Given the description of an element on the screen output the (x, y) to click on. 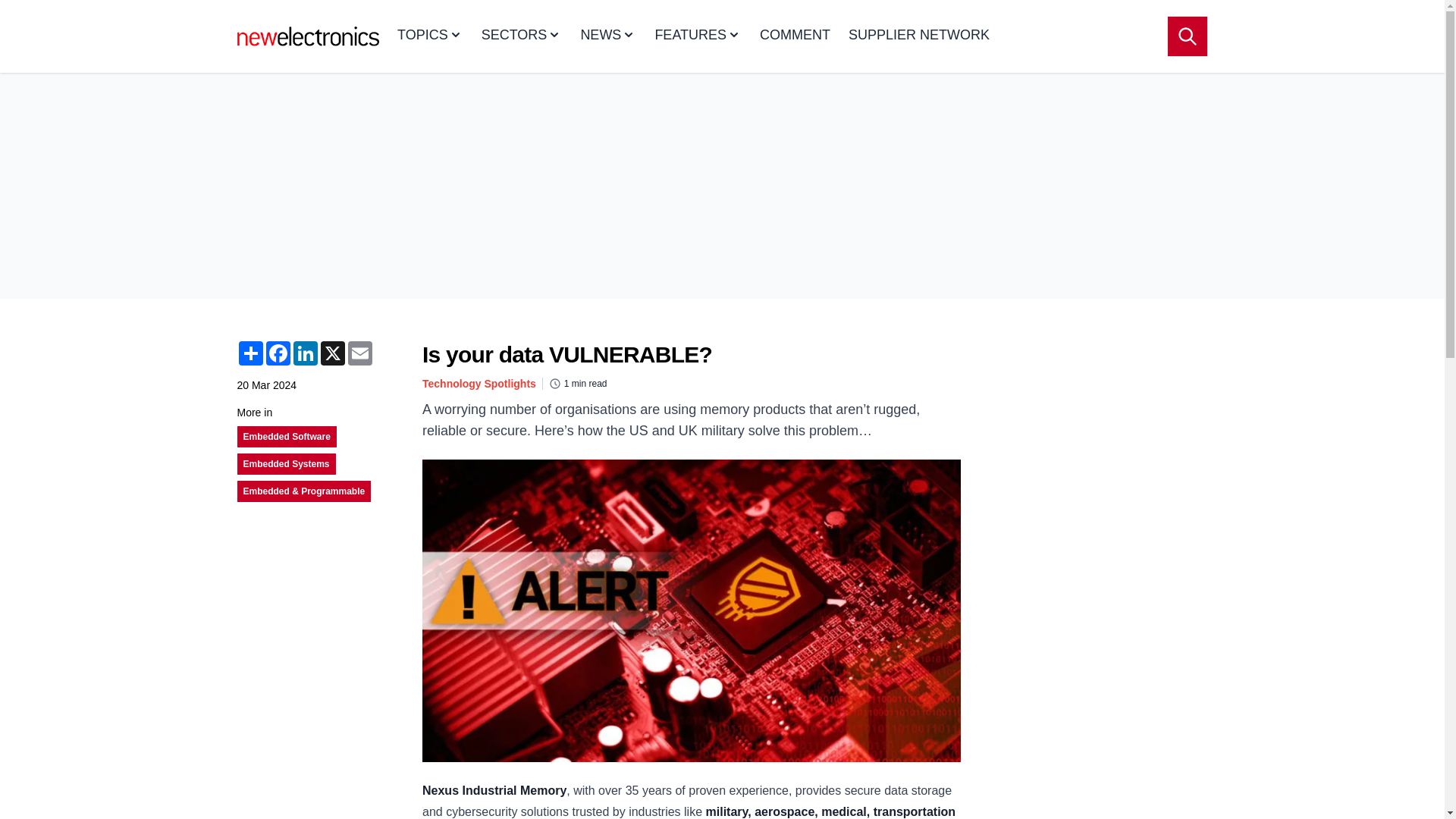
3rd party ad content (1093, 411)
TOPICS (430, 36)
3rd party ad content (1093, 619)
SECTORS (521, 36)
NEWS (607, 36)
